Given the description of an element on the screen output the (x, y) to click on. 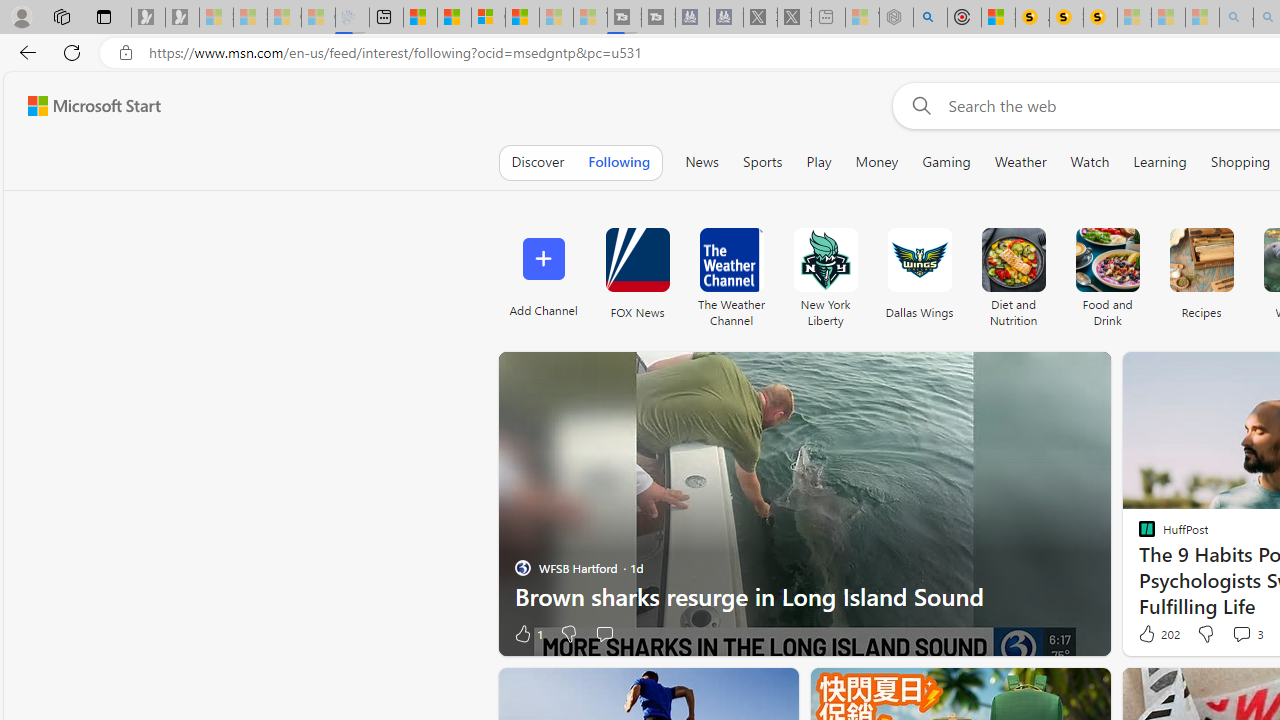
Gaming (946, 162)
Diet and Nutrition (1012, 272)
Hide this story (738, 691)
202 Like (1157, 633)
Recipes (1200, 272)
Microsoft Start - Sleeping (556, 17)
poe - Search (930, 17)
Wildlife - MSN - Sleeping (862, 17)
